Given the description of an element on the screen output the (x, y) to click on. 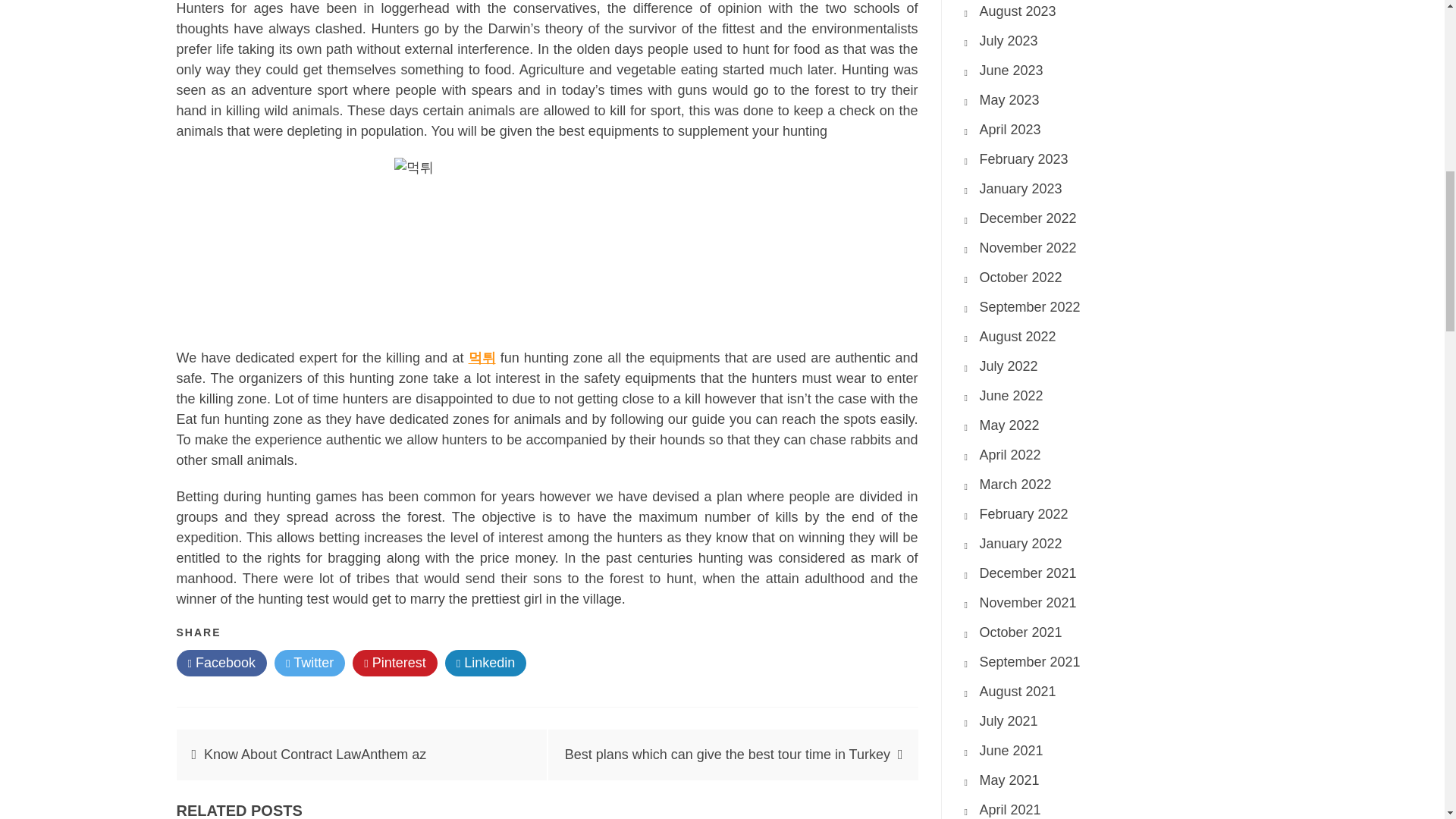
Pinterest (395, 663)
Linkedin (486, 663)
Best plans which can give the best tour time in Turkey (726, 754)
Know About Contract LawAnthem az (314, 754)
Twitter (310, 663)
Facebook (221, 663)
